Given the description of an element on the screen output the (x, y) to click on. 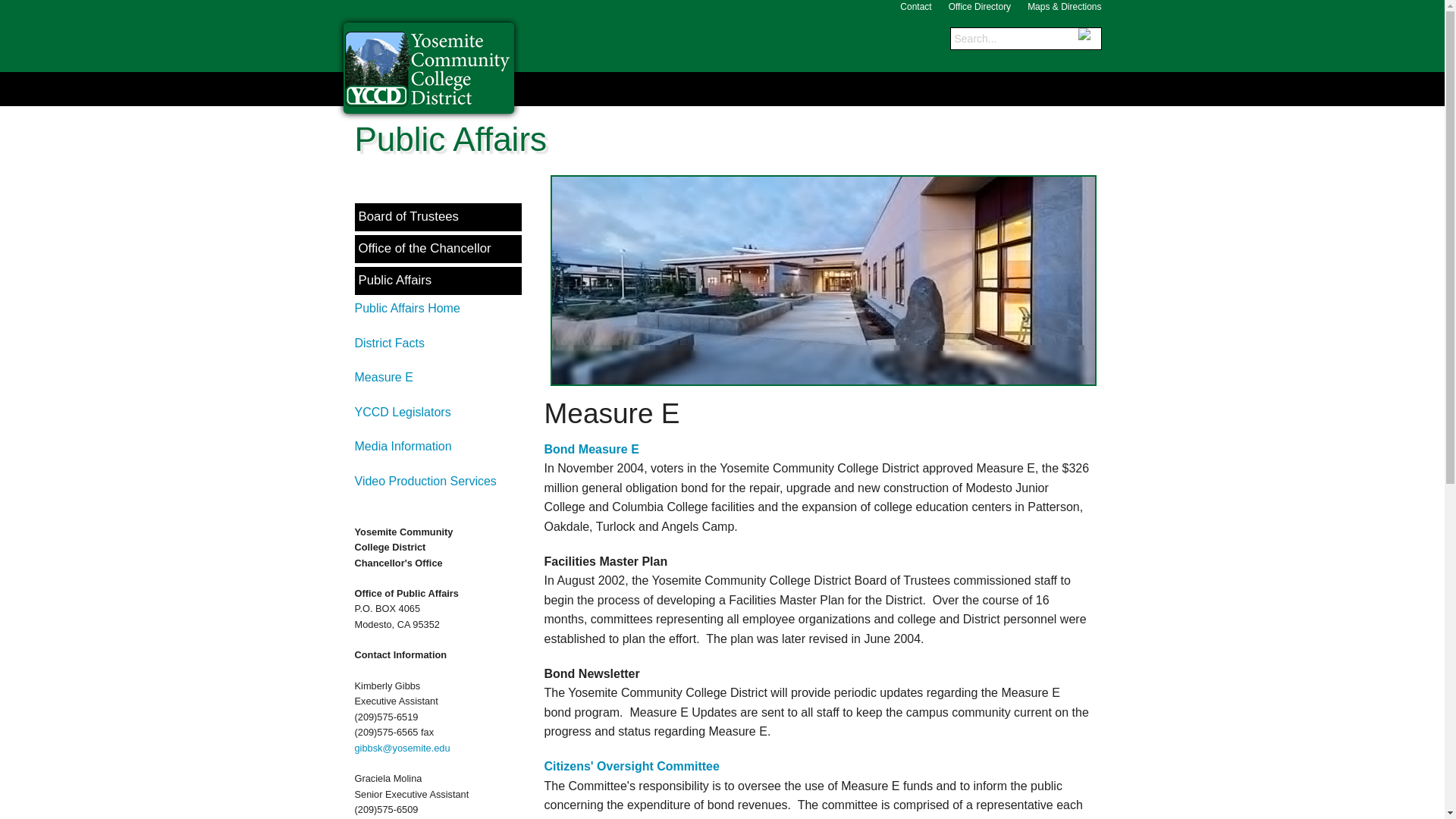
Citizens' Oversight Committee Website (631, 766)
Office of the Chancellor (438, 248)
Contact (915, 7)
Bond Measure E Website (591, 449)
Public Afffairs (438, 280)
Board of Trustees (438, 216)
Office Directory (979, 7)
